Given the description of an element on the screen output the (x, y) to click on. 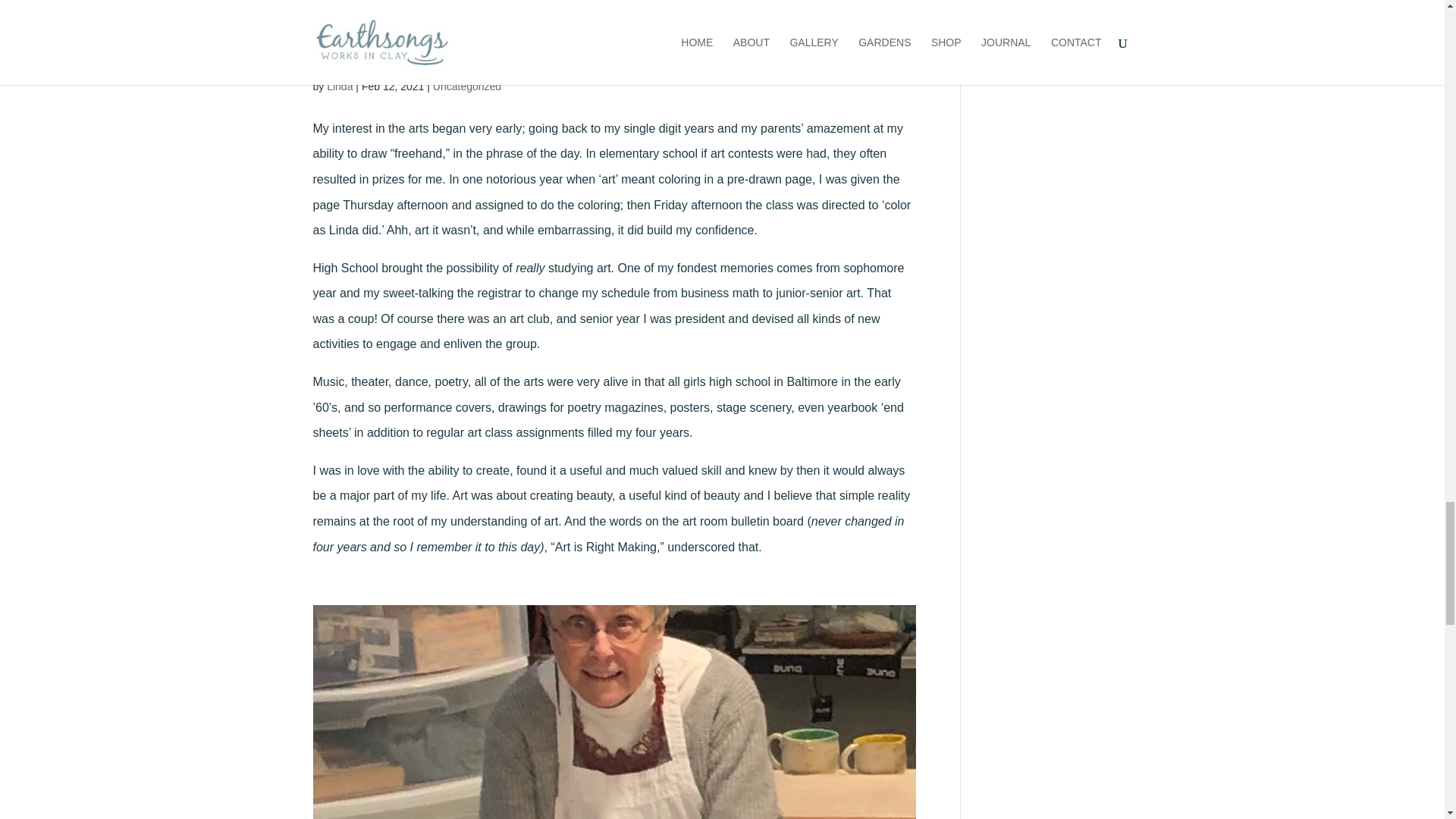
Posts by Linda (339, 86)
Linda (339, 86)
Uncategorized (466, 86)
